Given the description of an element on the screen output the (x, y) to click on. 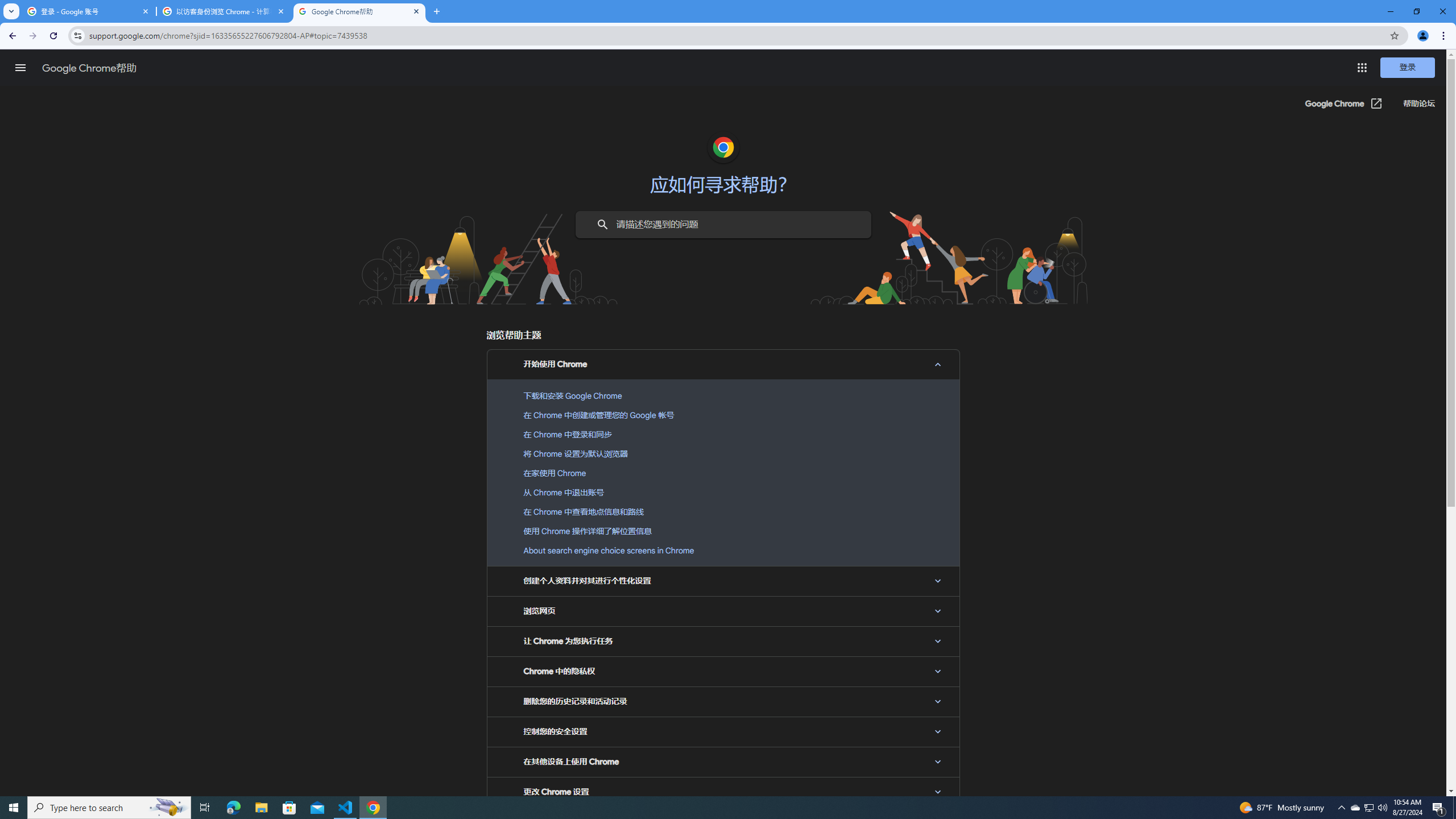
About search engine choice screens in Chrome (722, 550)
